Given the description of an element on the screen output the (x, y) to click on. 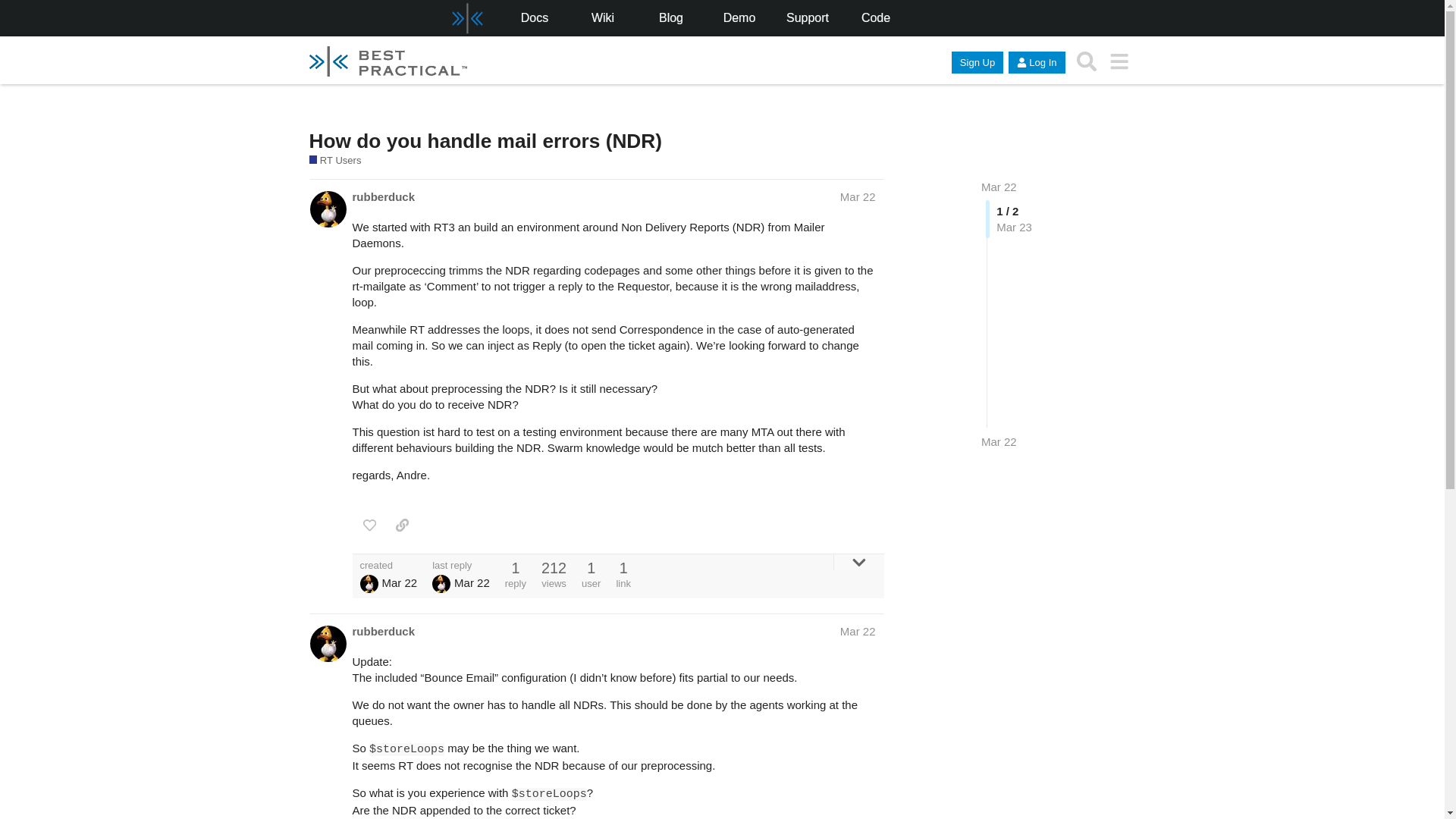
rubberduck (383, 631)
copy a link to this post to clipboard (402, 525)
Mar 22 (998, 186)
Mar 22 (858, 196)
RT Users (334, 160)
Mar 22, 2024 8:13 pm (998, 440)
Search (1086, 61)
Mar 22 (998, 441)
last reply (460, 565)
rubberduck (383, 196)
Post date (858, 196)
Mar 22, 2024 7:42 pm (398, 582)
Andre B. (440, 583)
Mar 22 (858, 631)
like this post (369, 525)
